Given the description of an element on the screen output the (x, y) to click on. 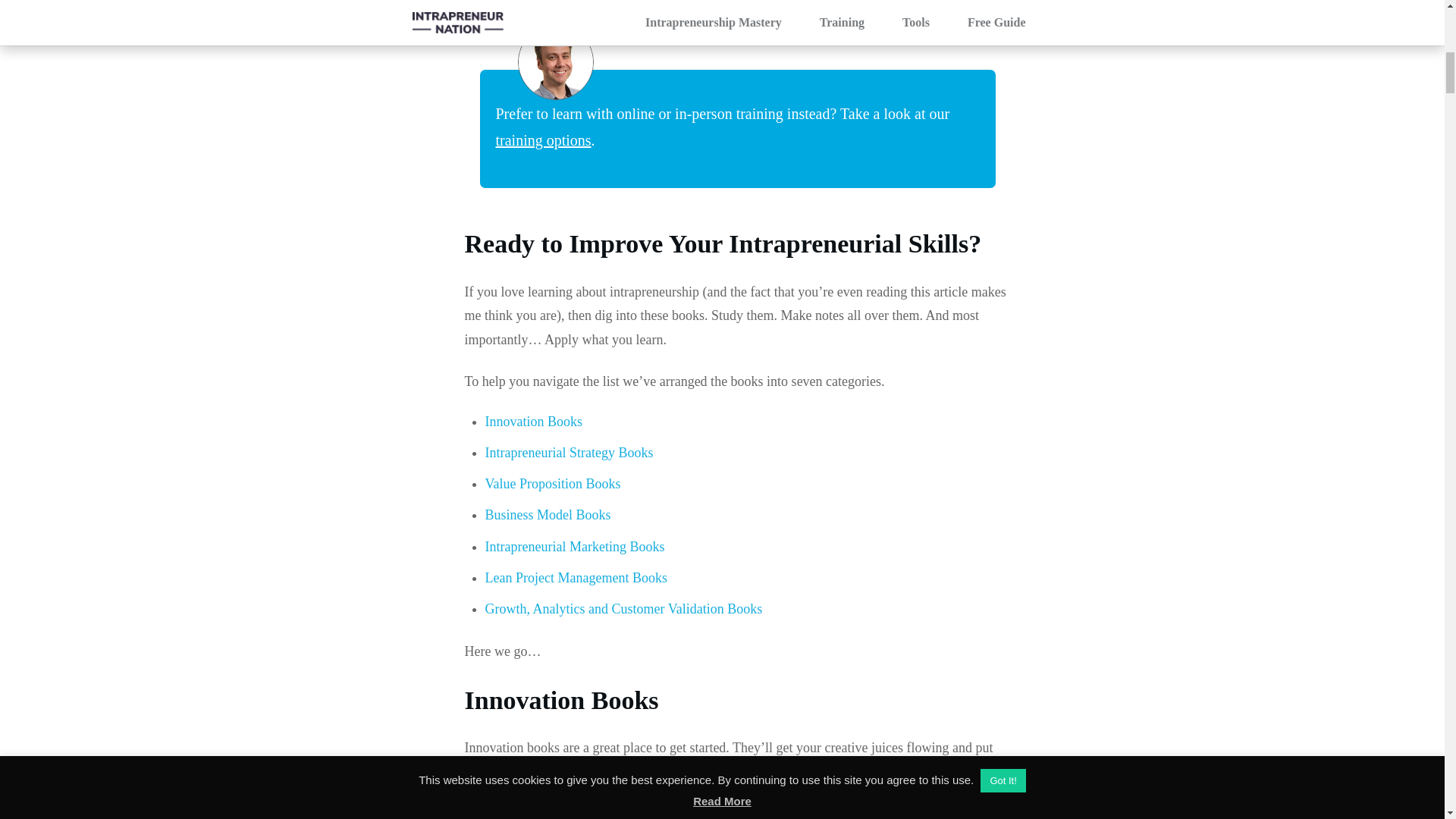
Intrapreneurial Marketing Books (574, 546)
Innovation Books (533, 421)
training options (543, 139)
Lean Project Management Books (575, 577)
Intrapreneurial Strategy Books (568, 452)
Value Proposition Books (552, 483)
Growth, Analytics and Customer Validation Books (623, 608)
Business Model Books (547, 514)
